Given the description of an element on the screen output the (x, y) to click on. 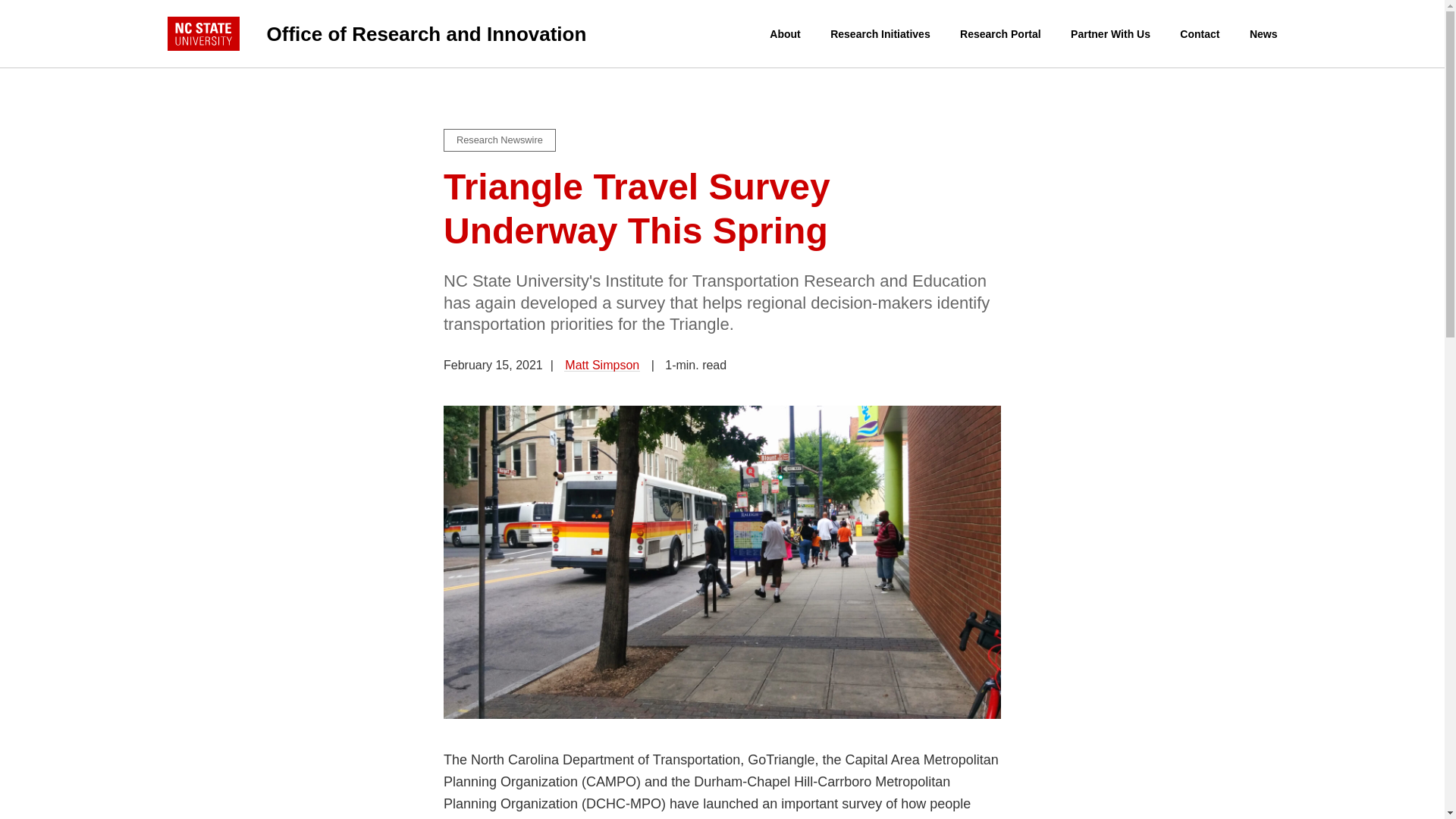
Research Initiatives (880, 34)
Posts by Matt Simpson (602, 364)
News (1263, 34)
About (784, 34)
Office of Research and Innovation (468, 33)
Contact (1199, 34)
Research Portal (1000, 34)
Partner With Us (1110, 34)
